Given the description of an element on the screen output the (x, y) to click on. 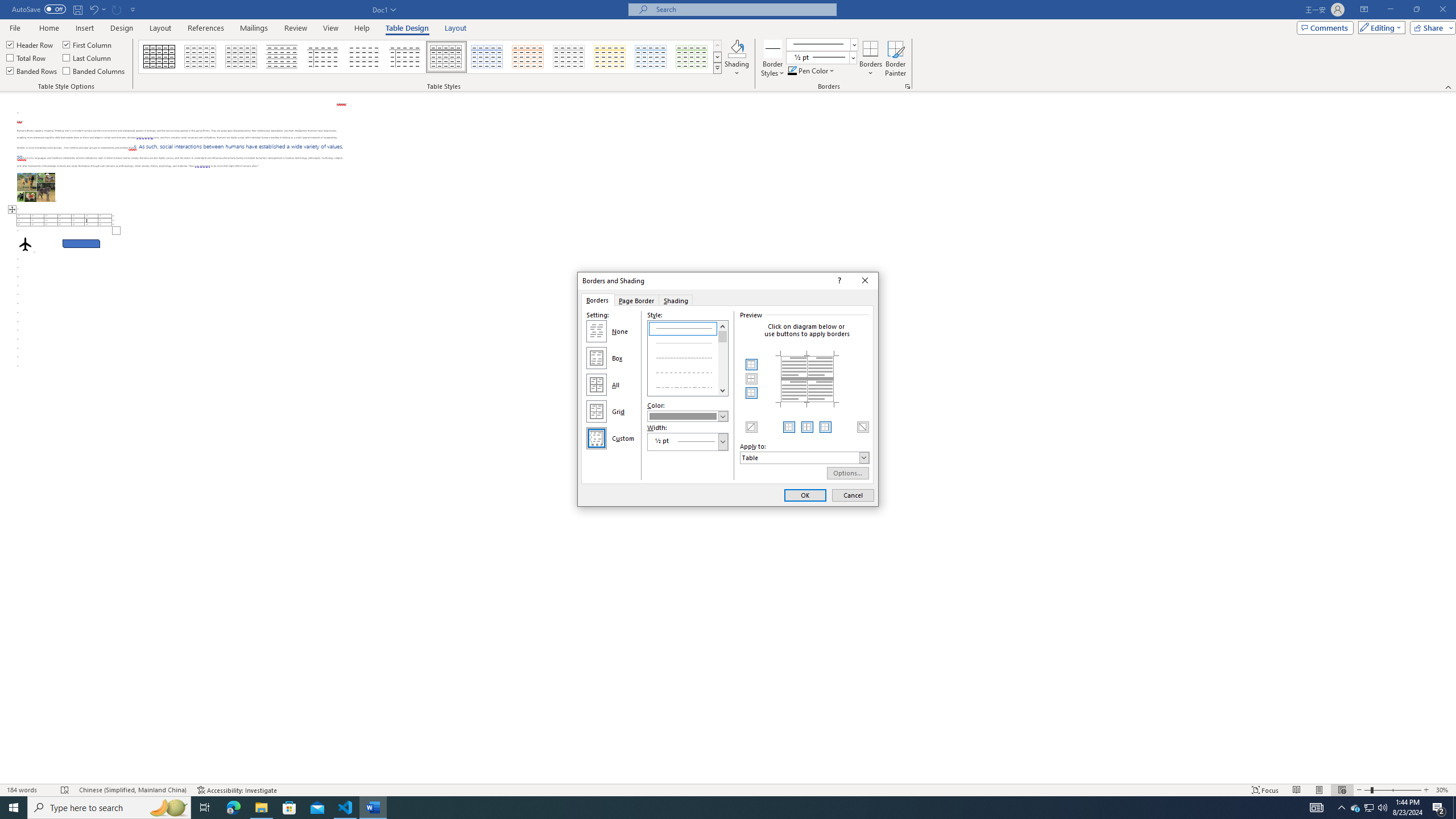
Visual Studio Code - 1 running window (345, 807)
Border Styles (773, 58)
Apply to: (804, 457)
Review (295, 28)
Context help (838, 280)
AutomationID: 4105 (1316, 807)
Word Count 184 words (28, 790)
Word - 1 running window (373, 807)
Shading RGB(0, 0, 0) (737, 48)
Accessibility Checker Accessibility: Investigate (237, 790)
Microsoft Edge (233, 807)
Help (361, 28)
Header Row (30, 44)
Layout (455, 28)
Plain Table 2 (282, 56)
